Given the description of an element on the screen output the (x, y) to click on. 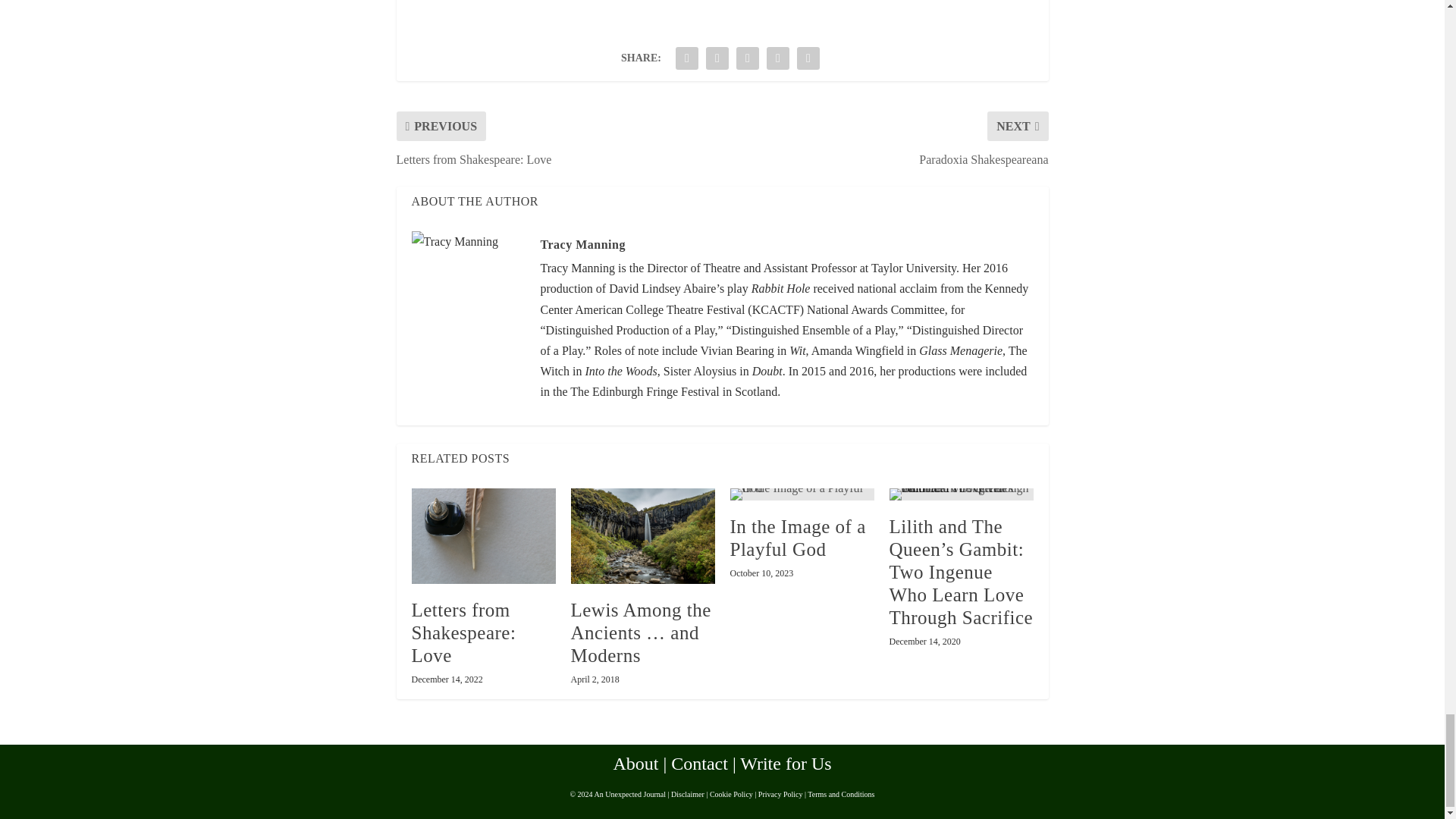
Letters from Shakespeare: Love (482, 536)
View all posts by Tracy Manning (582, 244)
Tracy Manning (582, 244)
In the Image of a Playful God (801, 494)
